Given the description of an element on the screen output the (x, y) to click on. 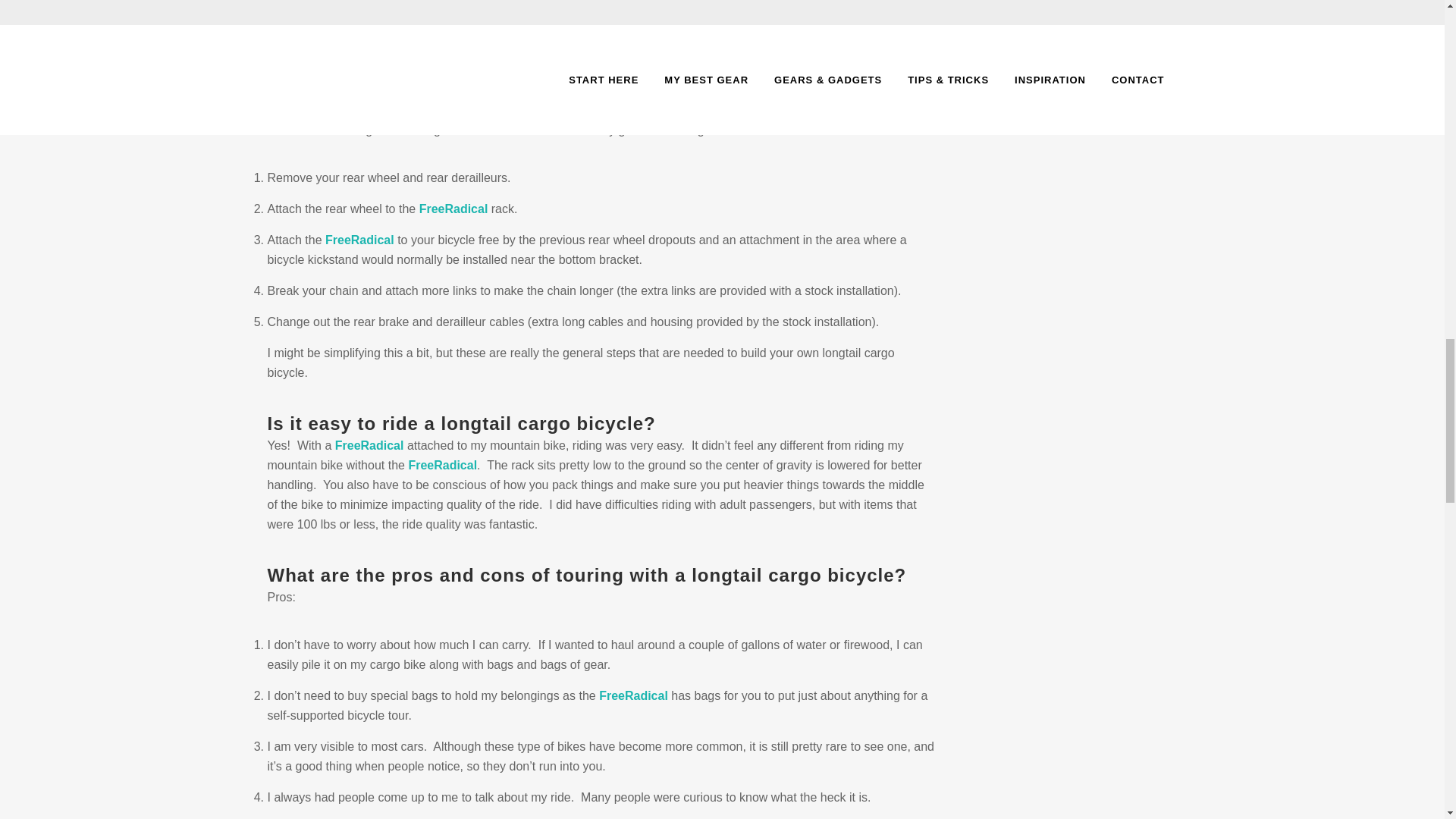
FreeRadical (633, 695)
FreeRadical (453, 208)
Xtracycle FreeRadical (633, 695)
bicycle co-op (398, 110)
FreeRadical (442, 464)
Bike Oven (398, 110)
FreeRadical (359, 239)
Xtracycle FreeRadical (369, 445)
Xtracycle FreeRadical (359, 239)
Xtracycle FreeRadical (453, 208)
